Given the description of an element on the screen output the (x, y) to click on. 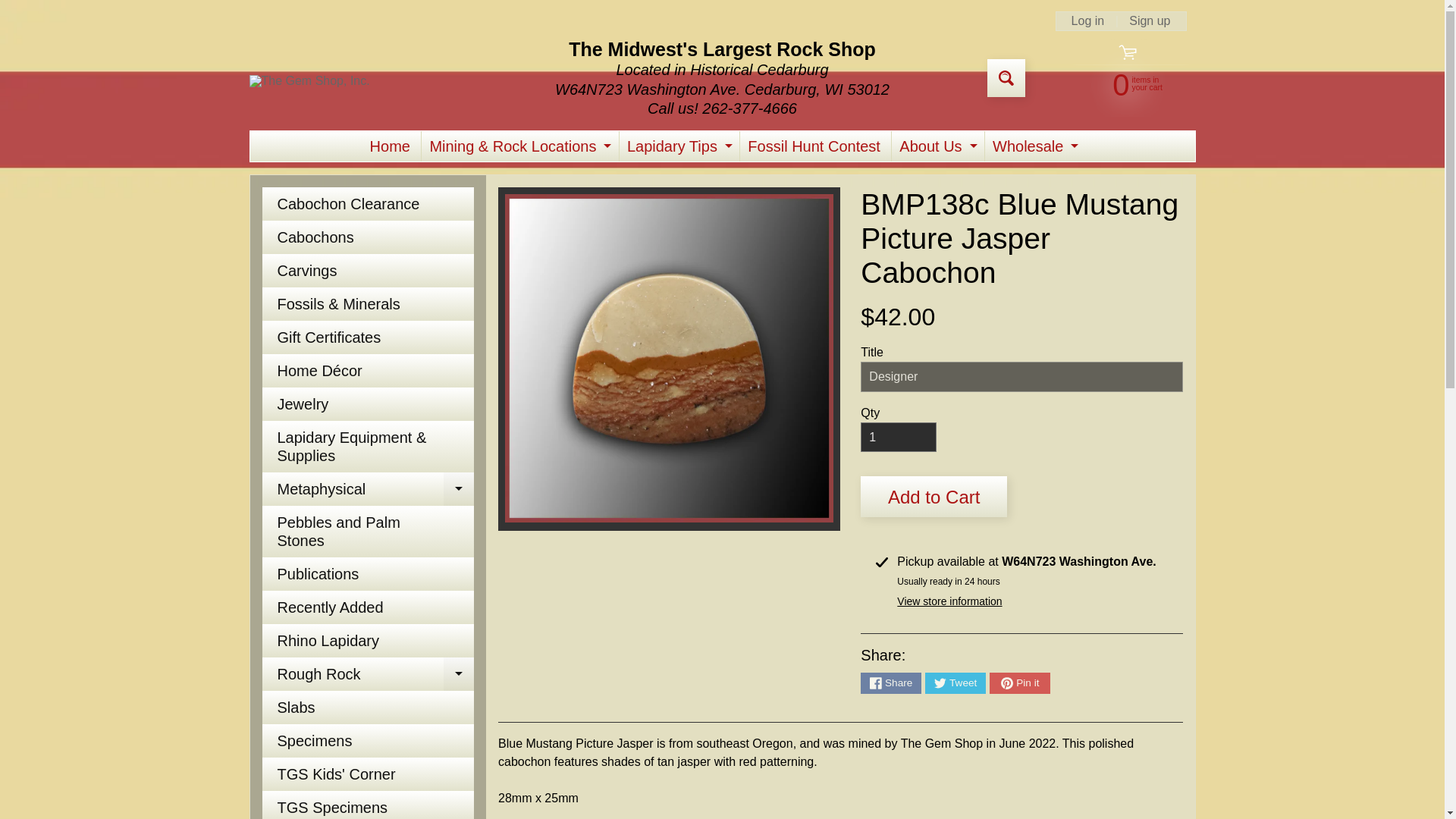
Sign up (1149, 21)
Home (389, 146)
Share on Facebook (1033, 146)
The Gem Shop, Inc. (890, 682)
Pin on Pinterest (935, 146)
Tweet on Twitter (308, 80)
Log in (1019, 682)
Search (954, 682)
